Given the description of an element on the screen output the (x, y) to click on. 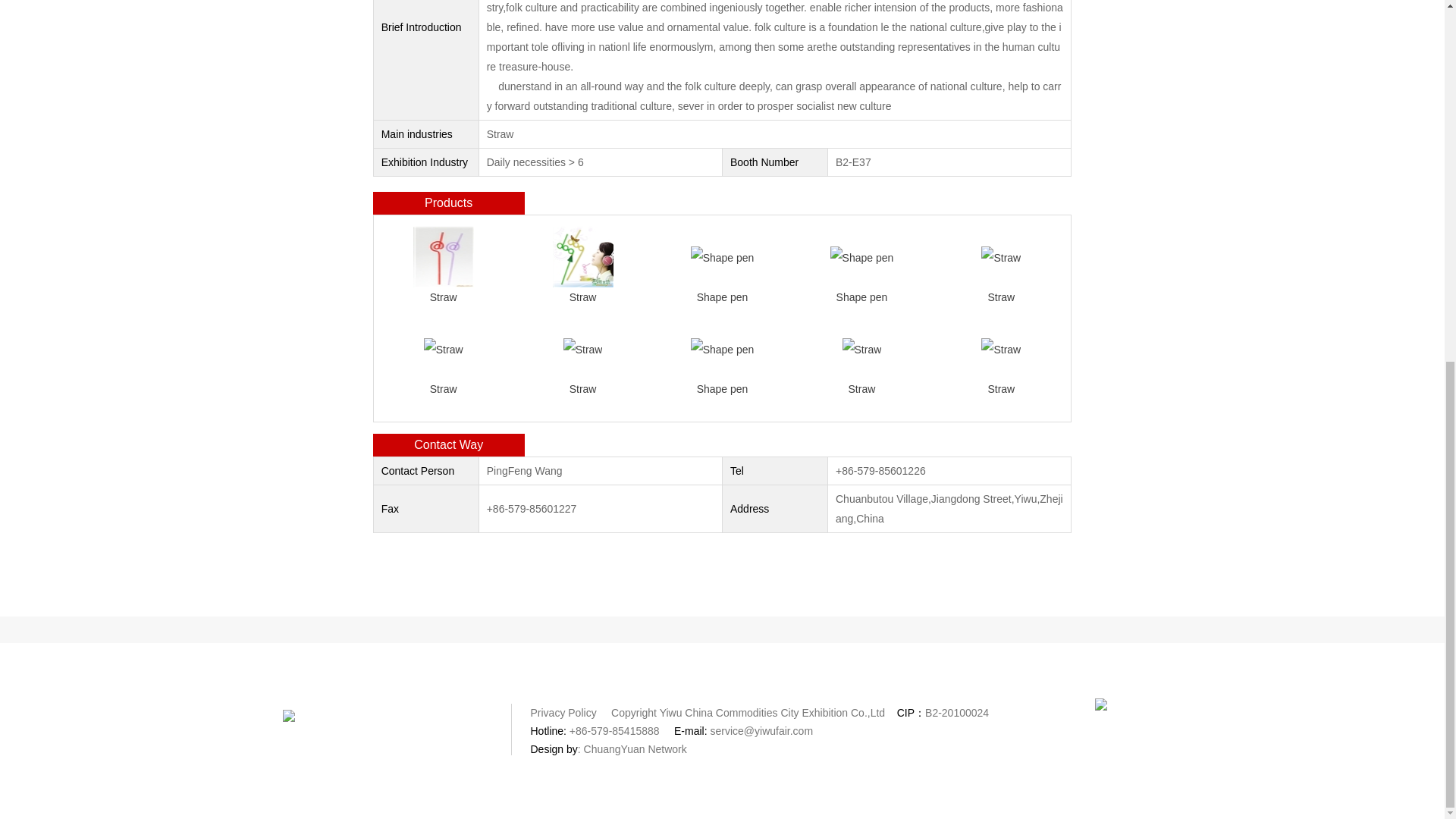
Straw (1000, 256)
Privacy Policy  (565, 712)
Straw (443, 256)
Straw (582, 256)
Shape pen (722, 347)
Straw (582, 347)
Shape pen (722, 256)
Shape pen (861, 256)
Straw (862, 347)
Straw (1000, 347)
Straw (443, 347)
